Given the description of an element on the screen output the (x, y) to click on. 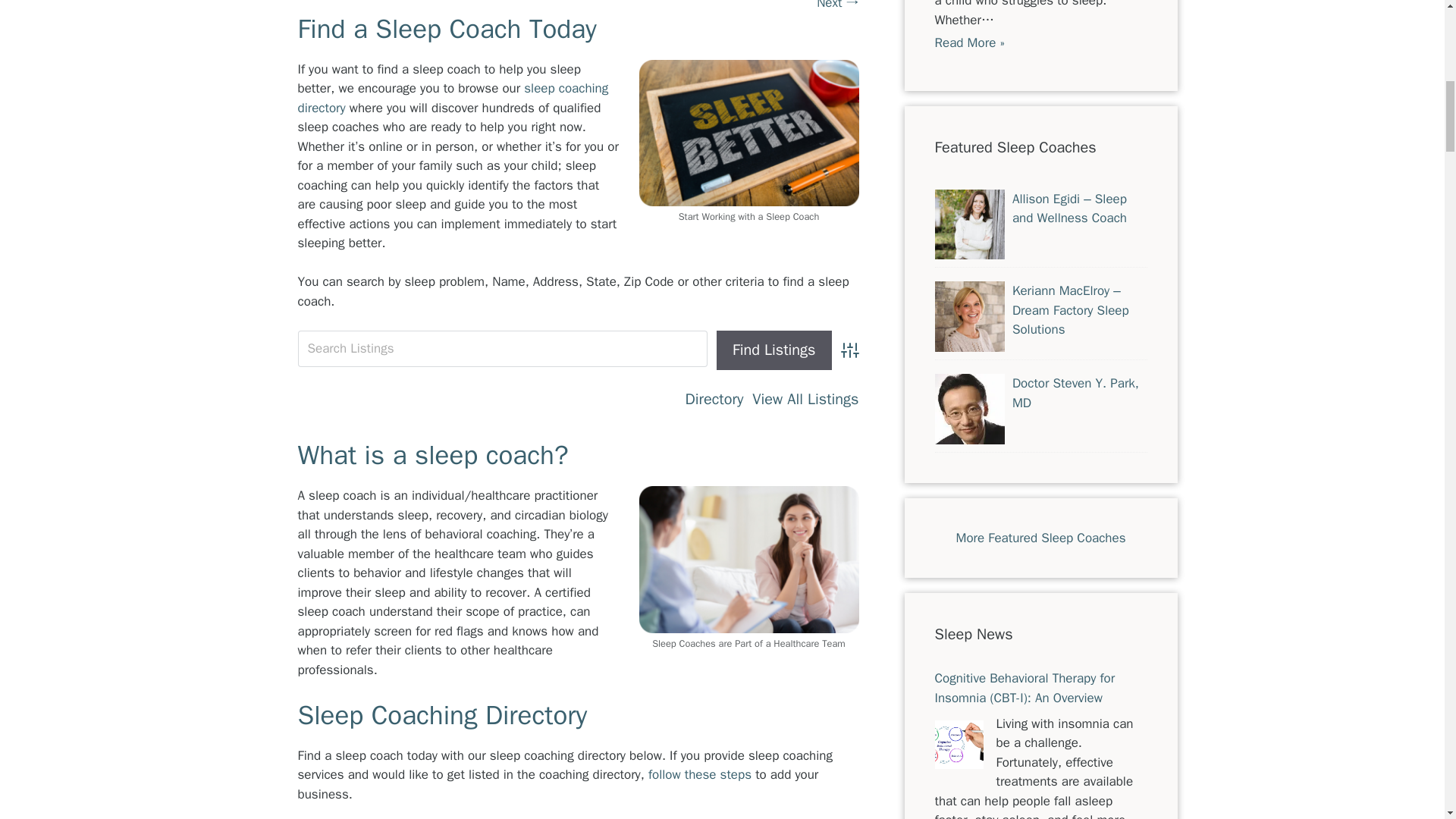
follow these steps (699, 774)
Start Working with a Sleep Coach (749, 132)
View All Listings (805, 399)
Sleep Coaches are Part of a Healthcare Team (749, 559)
Find Listings (773, 350)
Find Listings (773, 350)
Quick search keywords (502, 348)
sleep coaching directory (452, 98)
Directory (714, 399)
